Given the description of an element on the screen output the (x, y) to click on. 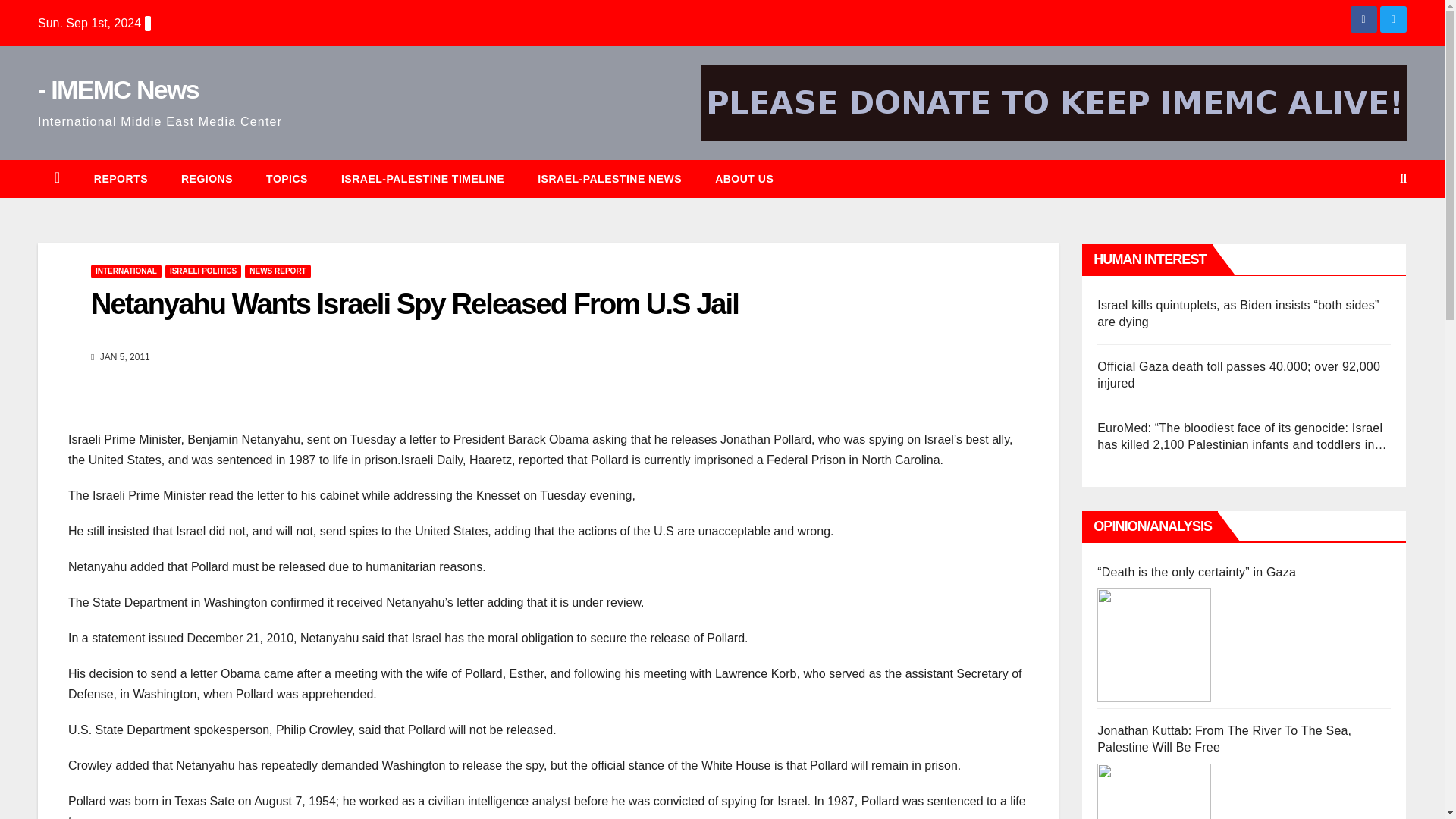
- IMEMC News (117, 89)
REPORTS (120, 178)
TOPICS (286, 178)
Regions (206, 178)
REGIONS (206, 178)
Reports (120, 178)
